Given the description of an element on the screen output the (x, y) to click on. 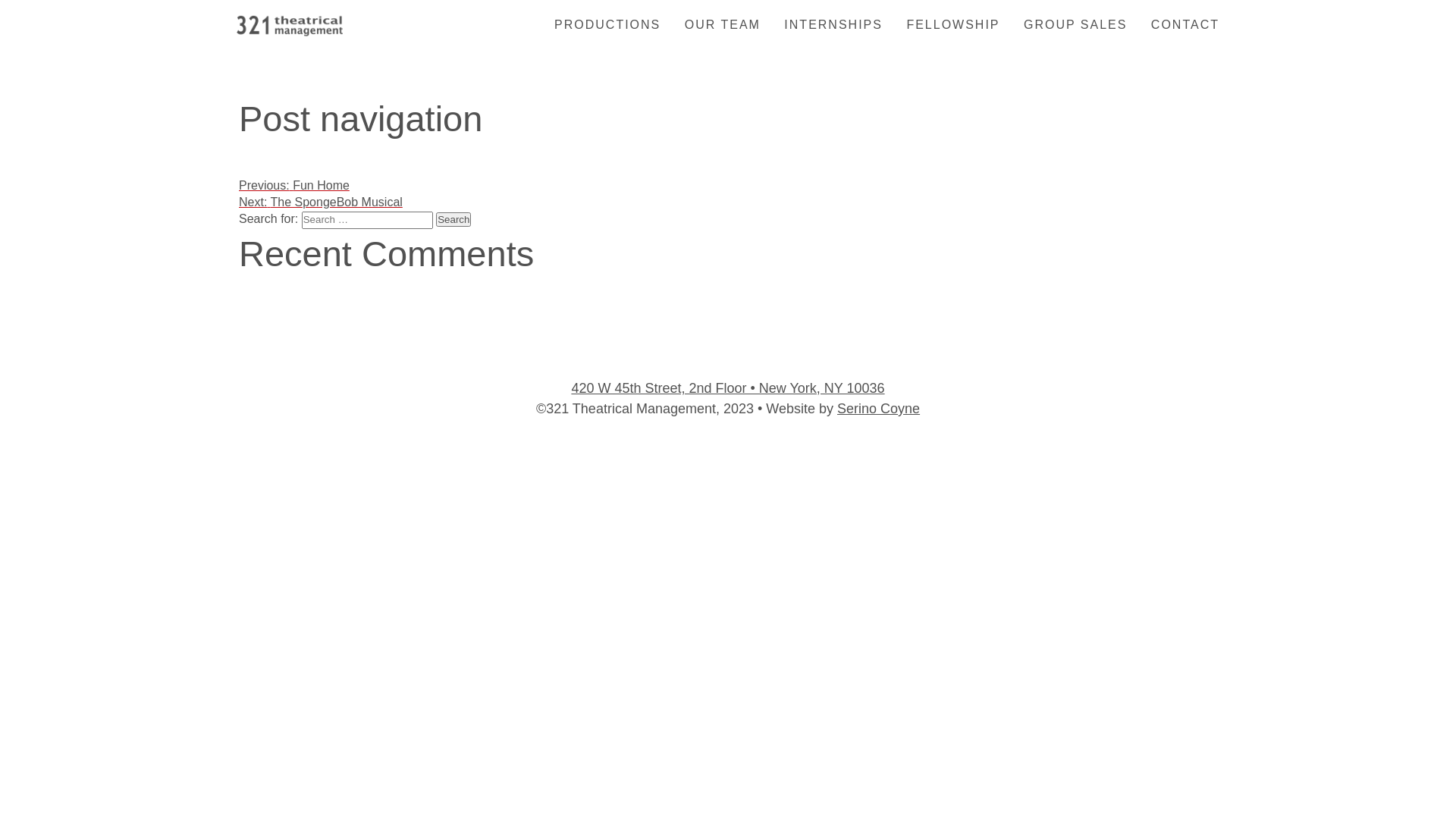
Serino Coyne Element type: text (878, 408)
Search Element type: text (453, 219)
CONTACT Element type: text (1174, 24)
OUR TEAM Element type: text (712, 24)
Next: The SpongeBob Musical Element type: text (320, 201)
Previous: Fun Home Element type: text (293, 184)
FELLOWSHIP Element type: text (942, 24)
GROUP SALES Element type: text (1064, 24)
INTERNSHIPS Element type: text (822, 24)
PRODUCTIONS Element type: text (607, 24)
